Given the description of an element on the screen output the (x, y) to click on. 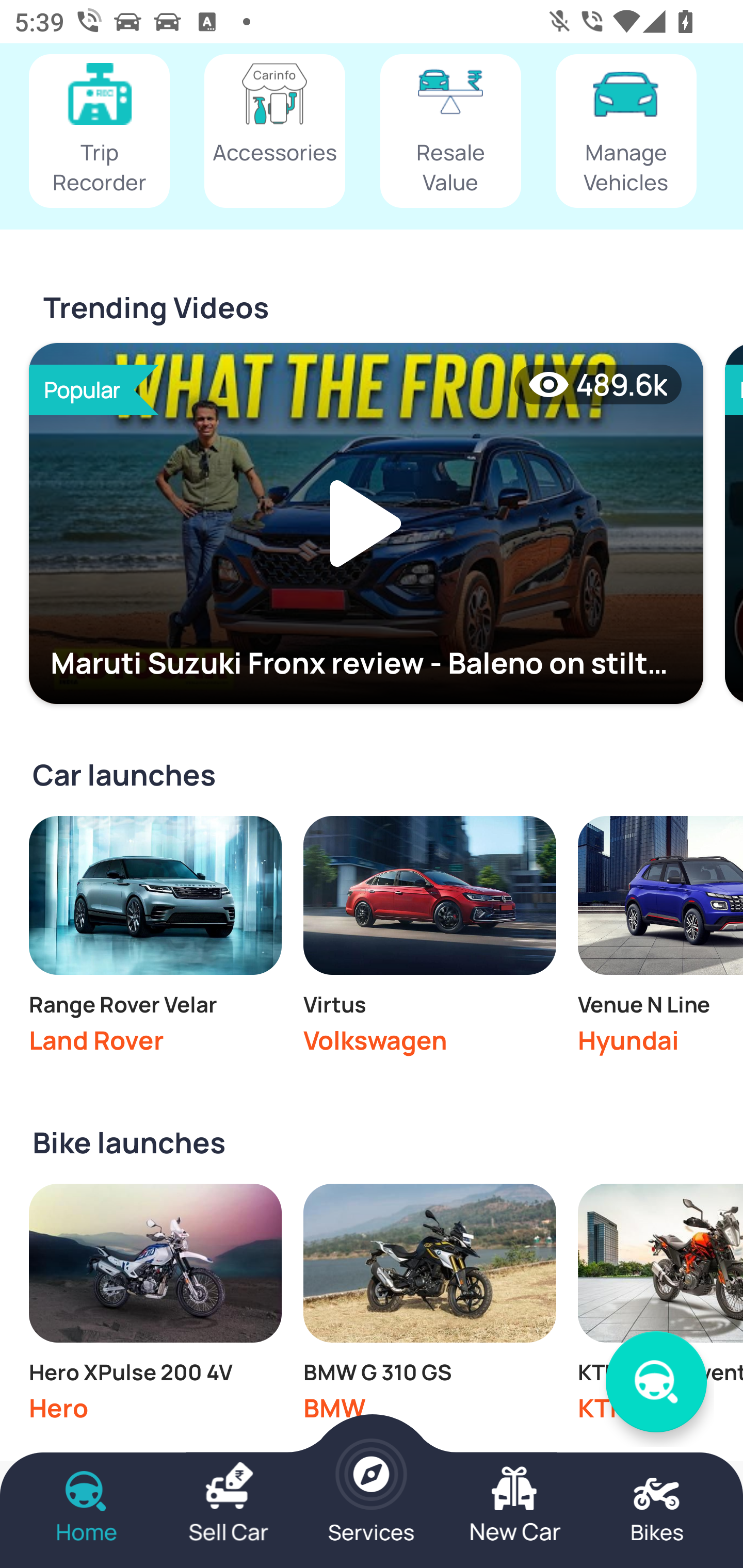
Trip Recorder (98, 131)
Accessories (274, 131)
Resale
Value (450, 131)
Manage
Vehicles (625, 131)
Range Rover Velar Land Rover (154, 939)
Virtus Volkswagen (429, 939)
Venue N Line Hyundai (660, 939)
Hero XPulse 200 4V Hero (154, 1307)
BMW G 310 GS BMW (429, 1307)
KTM 390 Adventure KTM (660, 1307)
